Given the description of an element on the screen output the (x, y) to click on. 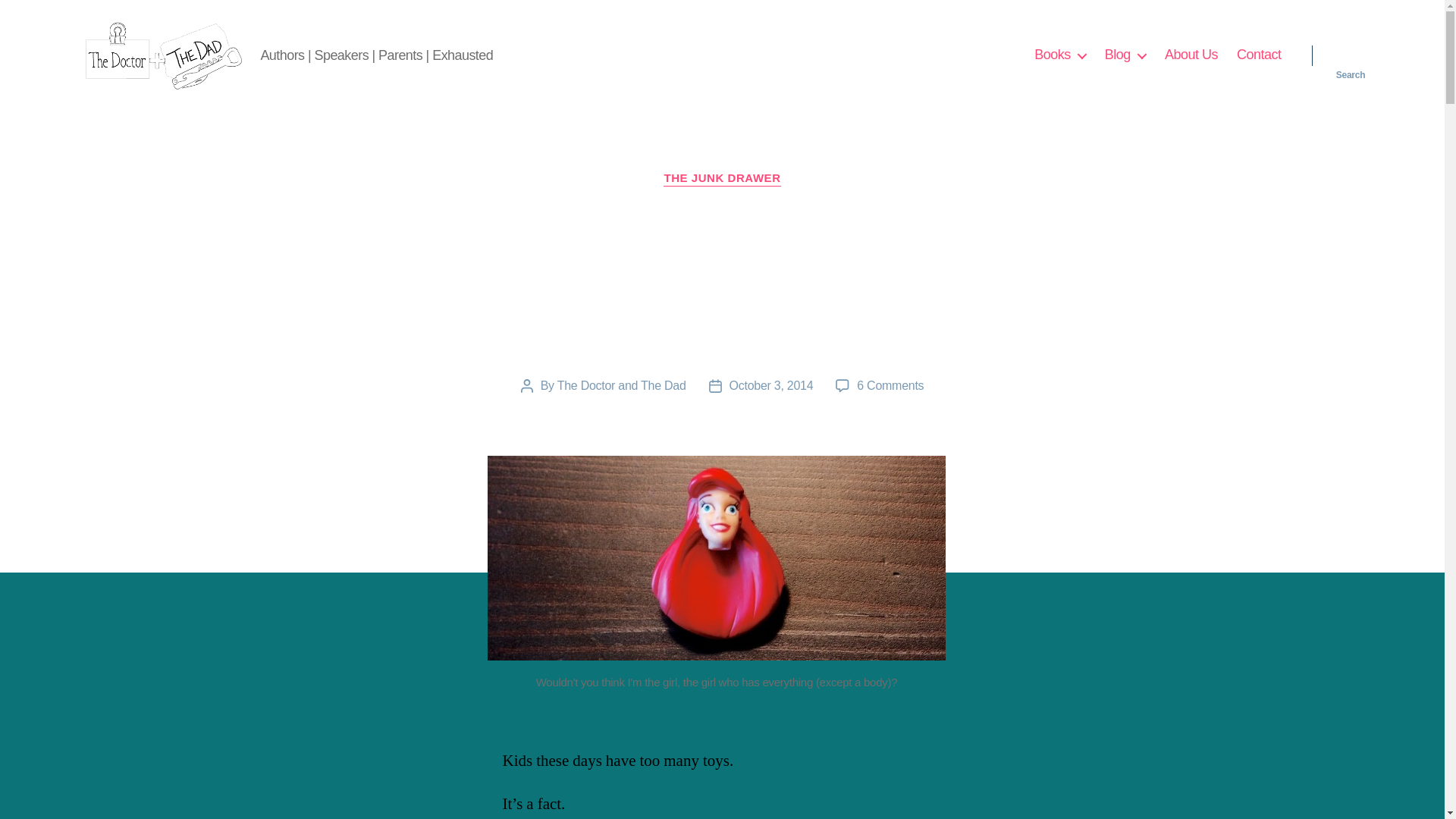
THE JUNK DRAWER (721, 178)
Blog (1125, 54)
The Doctor and The Dad (621, 385)
Search (1350, 55)
Contact (1258, 54)
About Us (1190, 54)
Books (1059, 54)
